Given the description of an element on the screen output the (x, y) to click on. 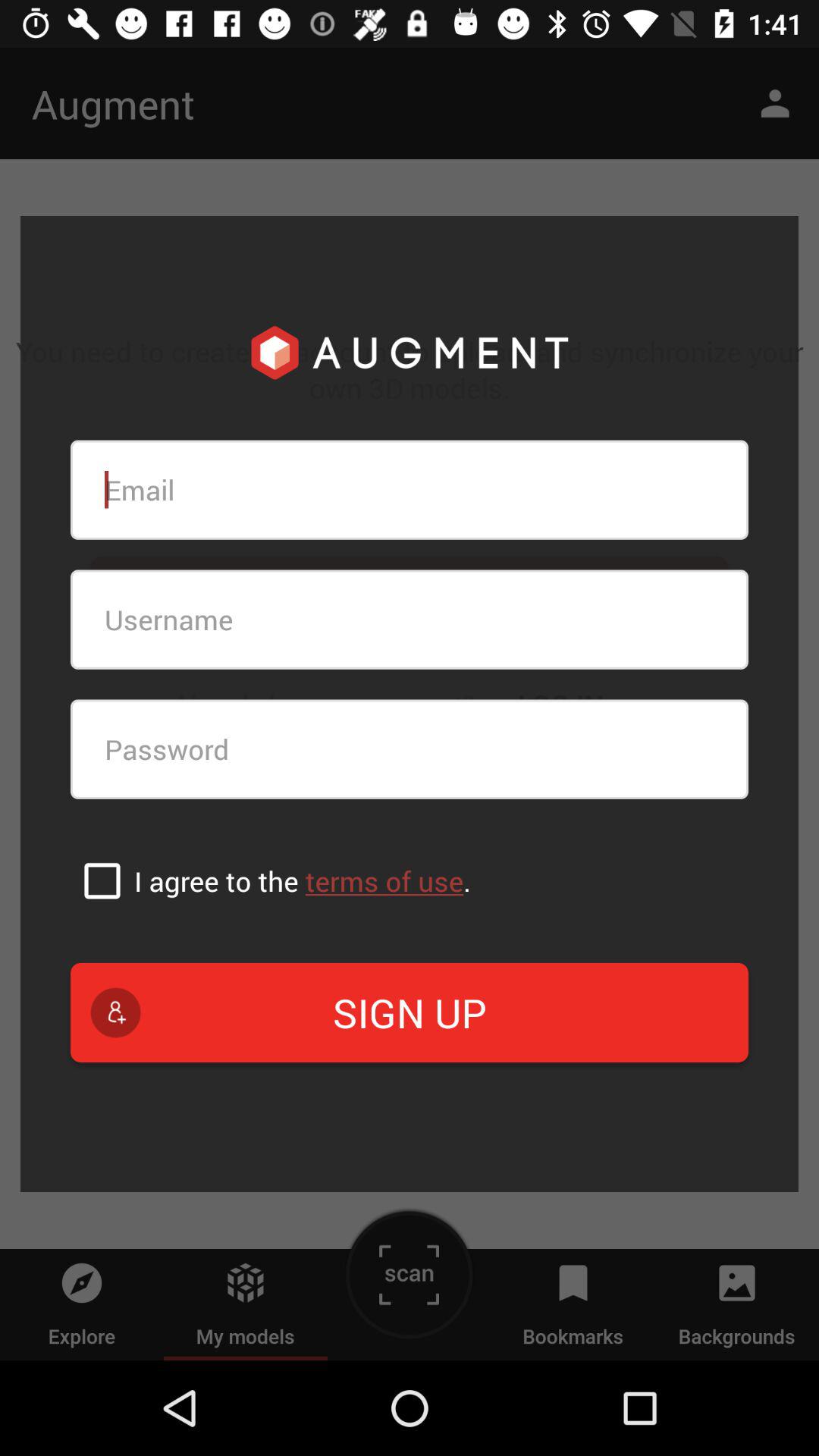
input your email (409, 489)
